Given the description of an element on the screen output the (x, y) to click on. 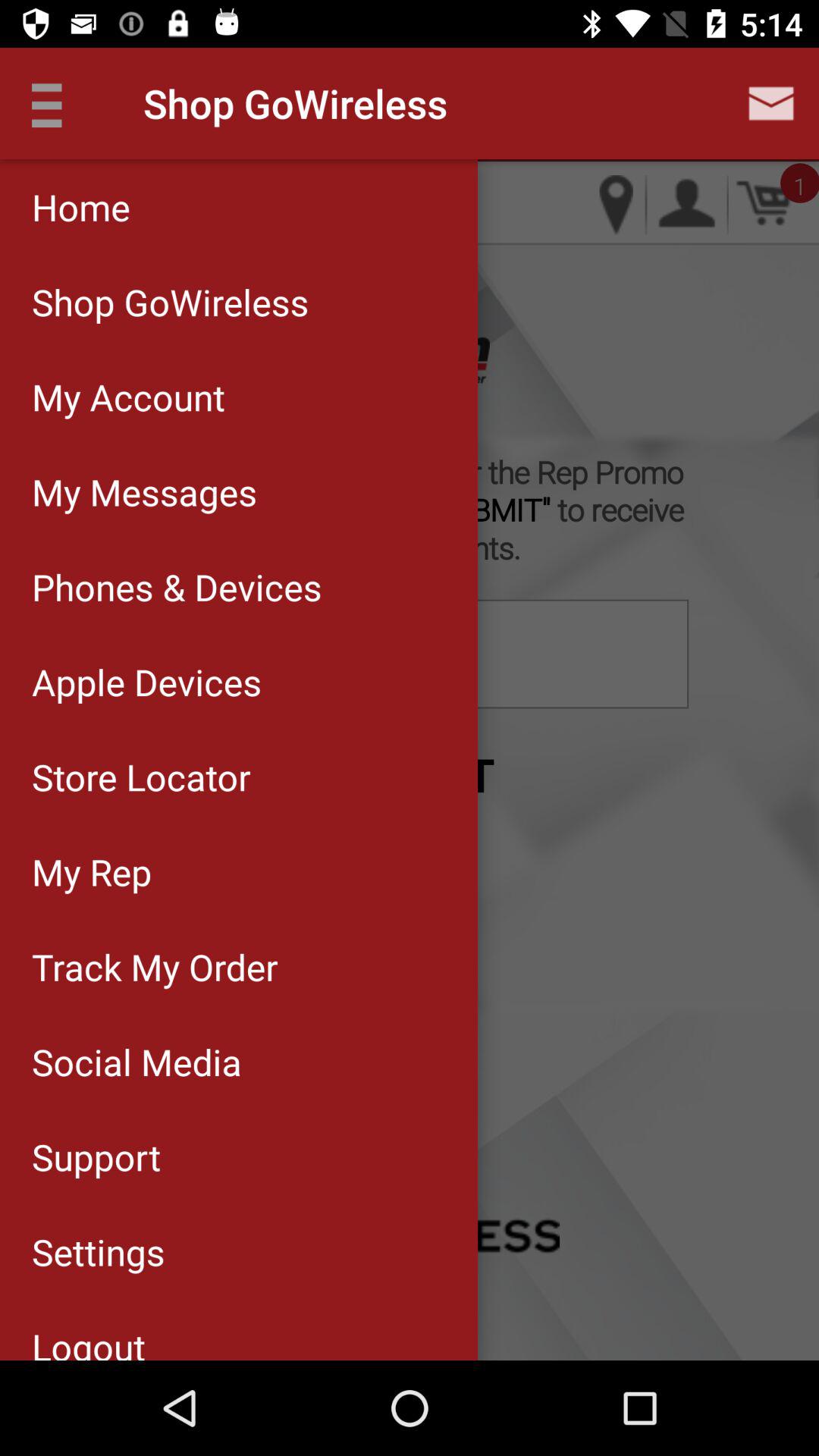
scroll until the social media (238, 1061)
